Given the description of an element on the screen output the (x, y) to click on. 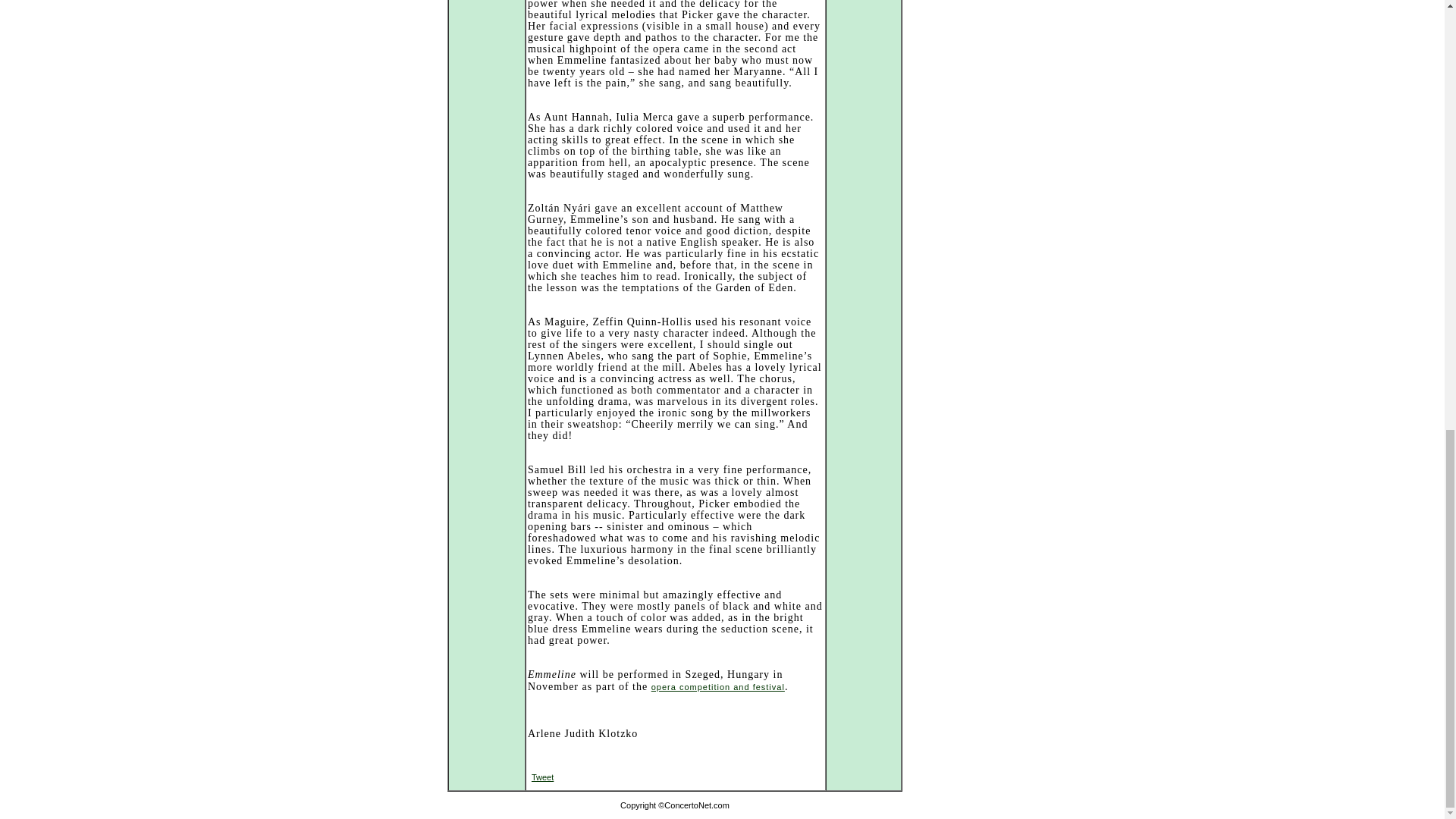
Tweet (542, 777)
opera competition and festival (717, 686)
